Given the description of an element on the screen output the (x, y) to click on. 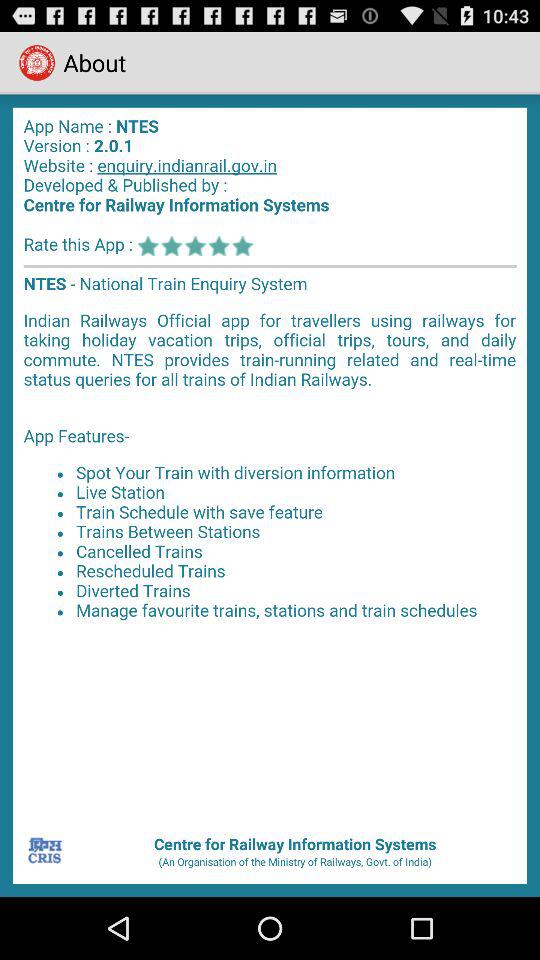
information page (269, 462)
